Given the description of an element on the screen output the (x, y) to click on. 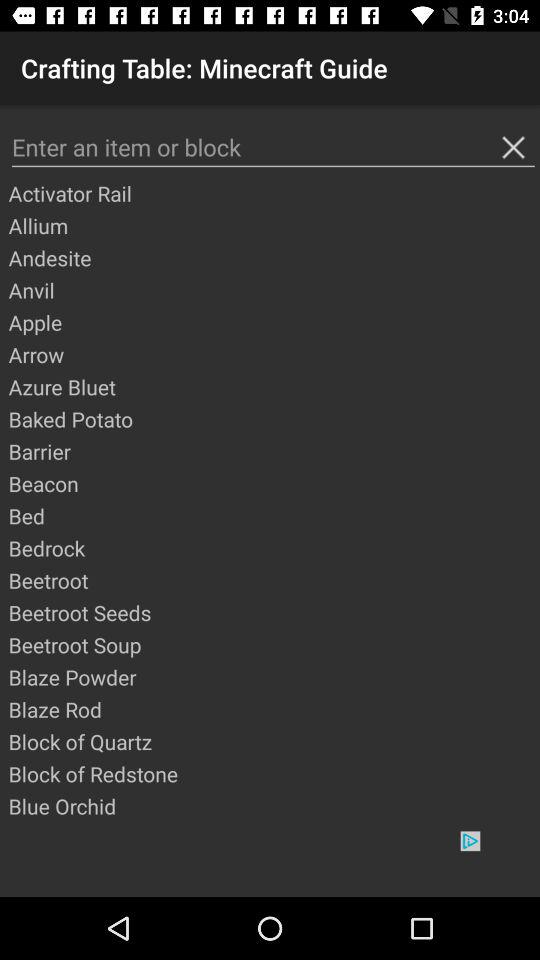
click the app above blaze rod (273, 677)
